Given the description of an element on the screen output the (x, y) to click on. 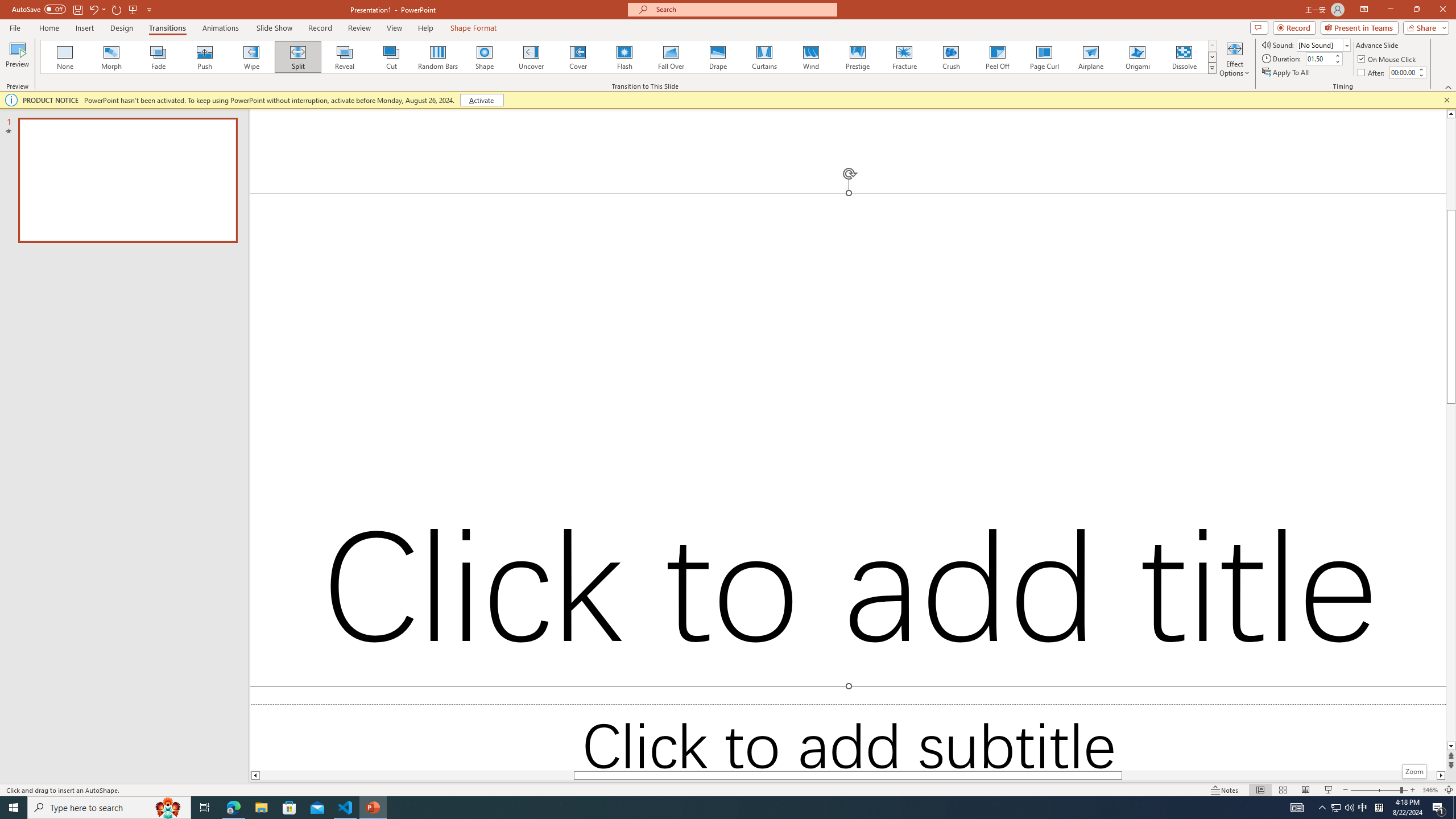
Drape (717, 56)
Activate (481, 100)
Peel Off (997, 56)
Prestige (857, 56)
Cover (577, 56)
Sound (1324, 44)
